Given the description of an element on the screen output the (x, y) to click on. 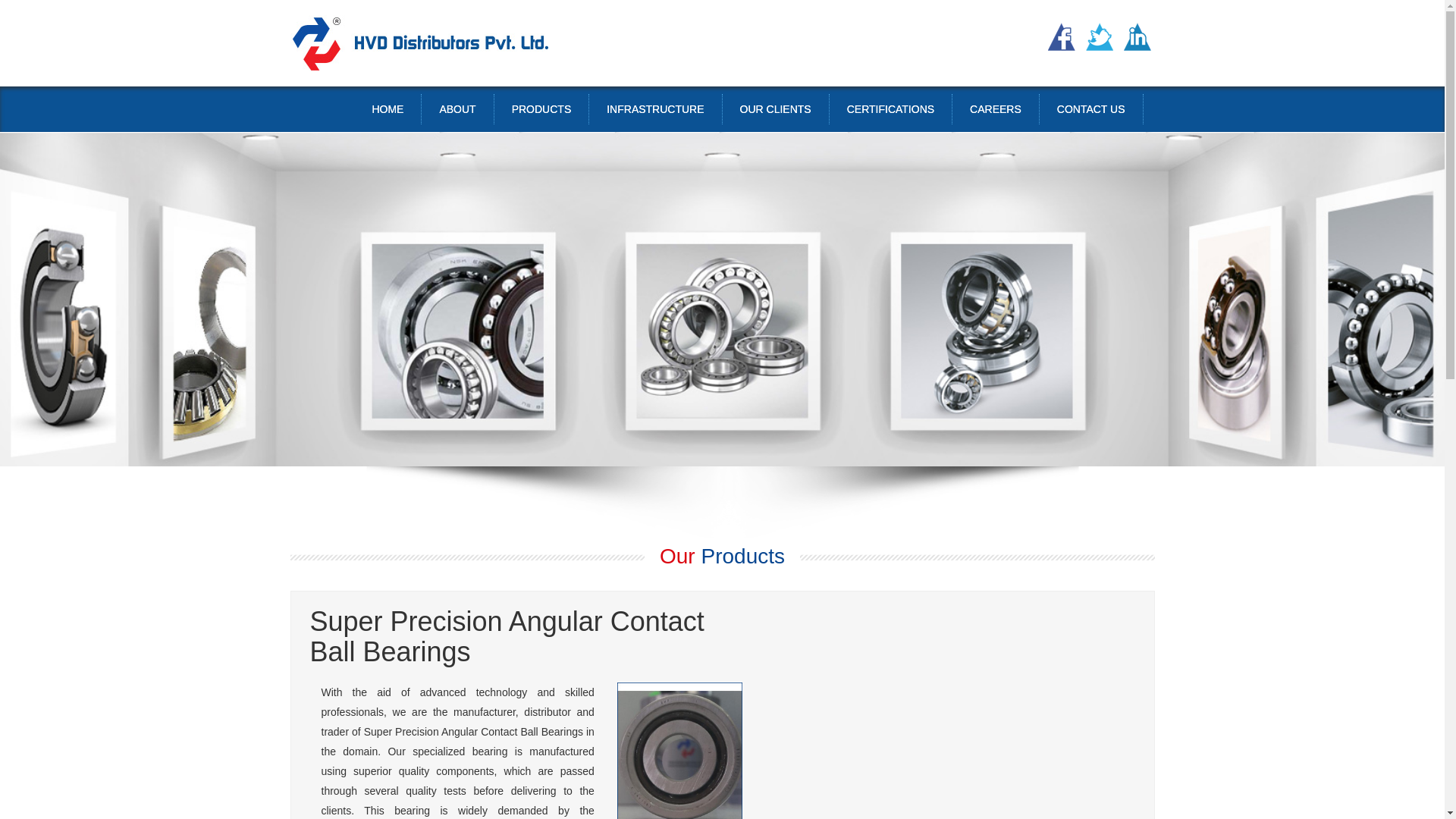
INFRASTRUCTURE (654, 109)
HOME (387, 109)
CAREERS (995, 109)
CONTACT US (1090, 109)
OUR CLIENTS (775, 109)
ABOUT (456, 109)
PRODUCTS (541, 109)
CERTIFICATIONS (891, 109)
